Given the description of an element on the screen output the (x, y) to click on. 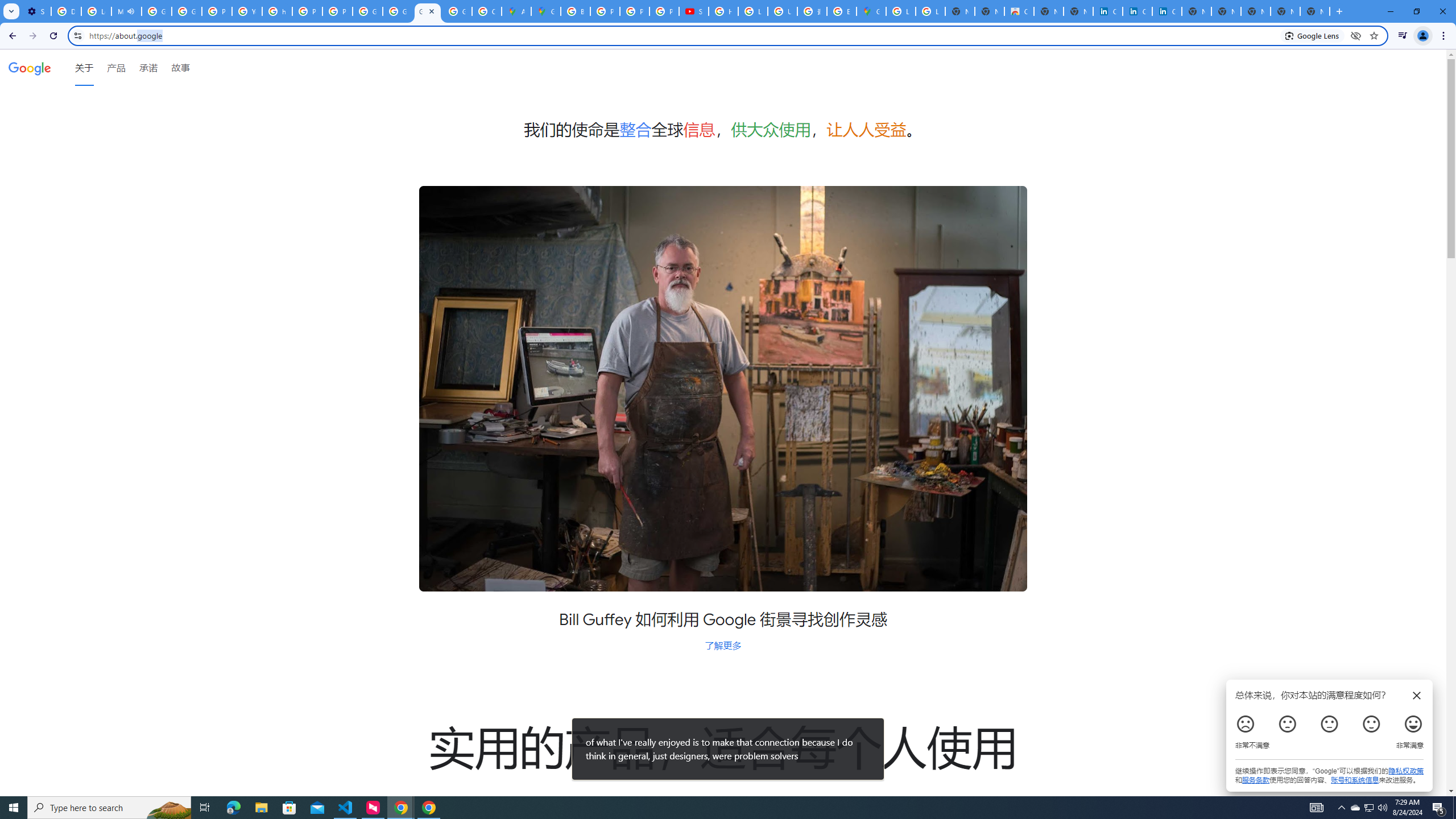
Create your Google Account (486, 11)
Search with Google Lens (1311, 35)
New Tab (1314, 11)
Google Account Help (156, 11)
